Given the description of an element on the screen output the (x, y) to click on. 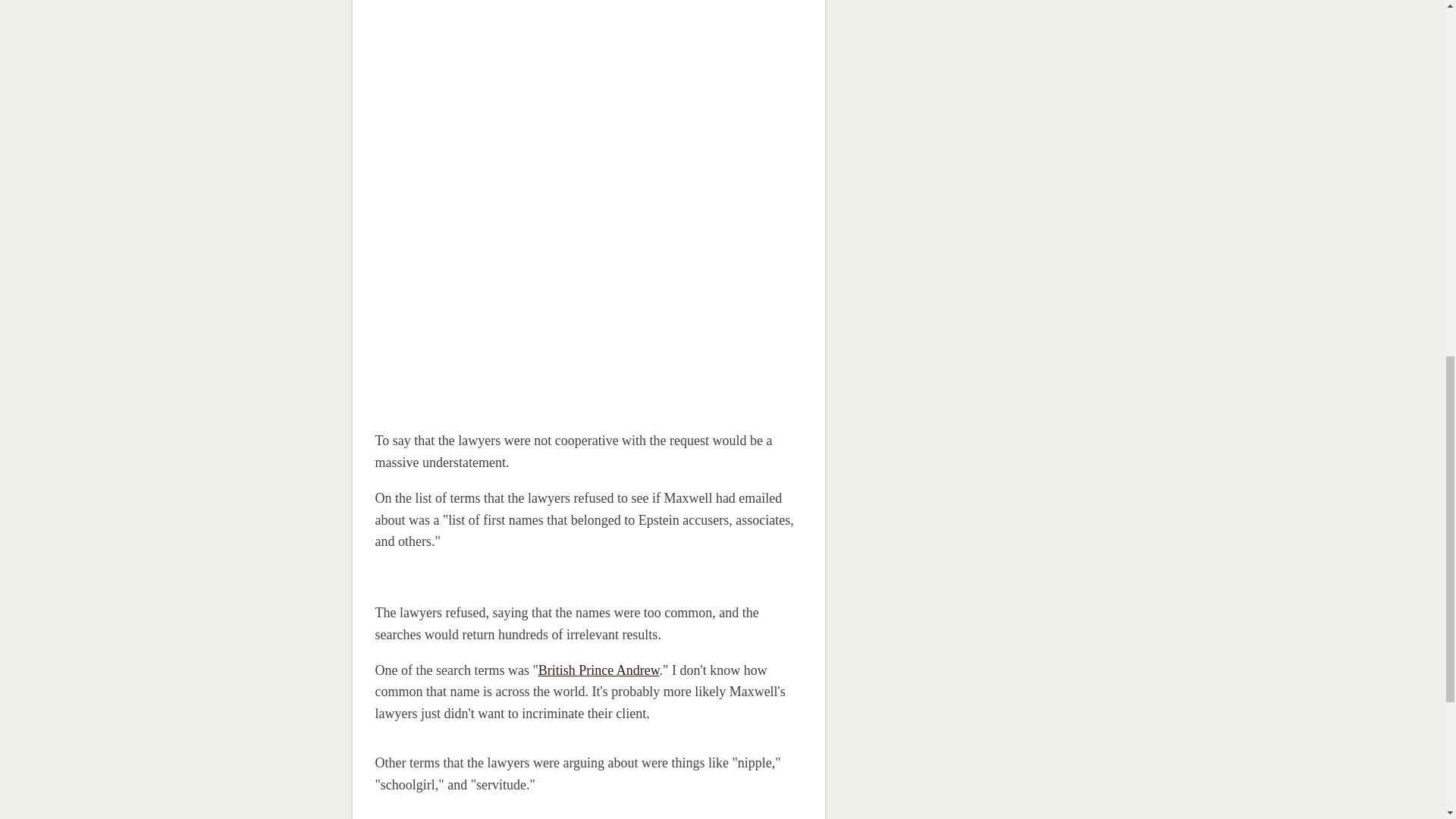
British Prince Andrew (598, 670)
